Given the description of an element on the screen output the (x, y) to click on. 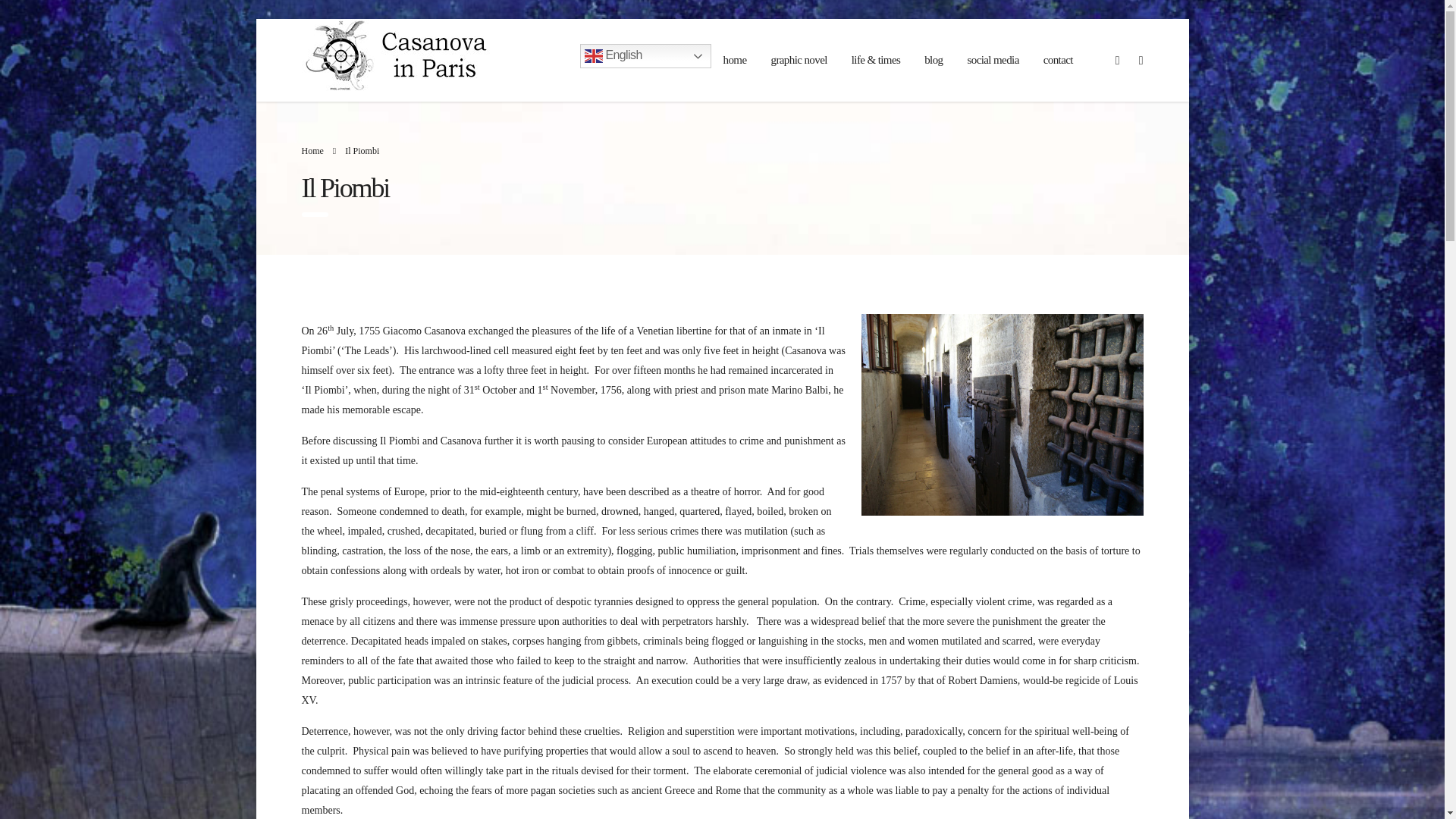
home (734, 60)
English (645, 55)
contact (1057, 60)
social media (992, 60)
blog (933, 60)
graphic novel (798, 60)
